Given the description of an element on the screen output the (x, y) to click on. 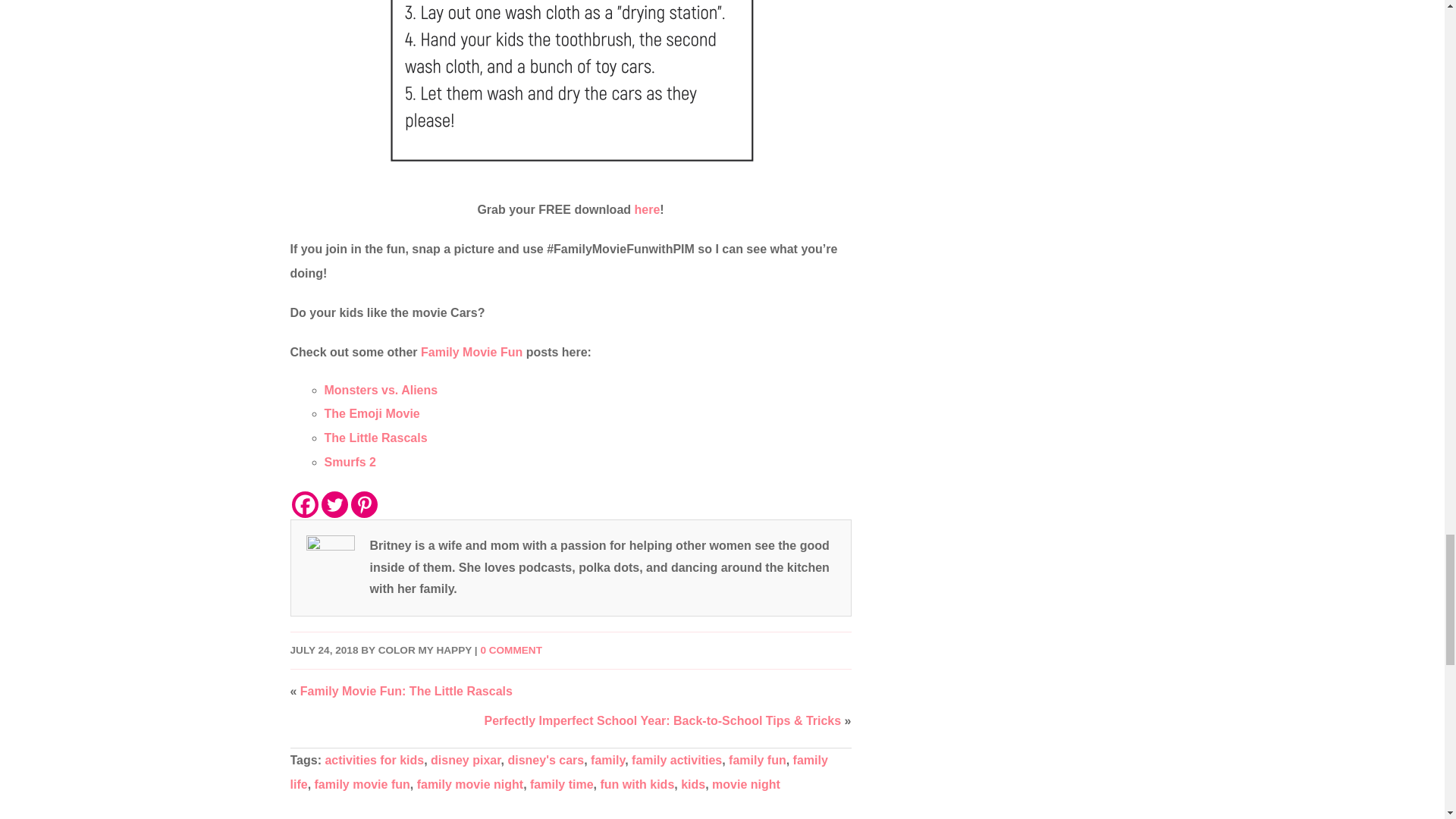
Family Movie Fun (471, 351)
Facebook (304, 504)
Monsters vs. Aliens (381, 390)
The Little Rascals (376, 437)
Family Movie Fun: The Little Rascals (405, 690)
The Emoji Movie (372, 413)
Pinterest (363, 504)
Smurfs 2 (349, 461)
0 COMMENT (510, 650)
Twitter (334, 504)
